Given the description of an element on the screen output the (x, y) to click on. 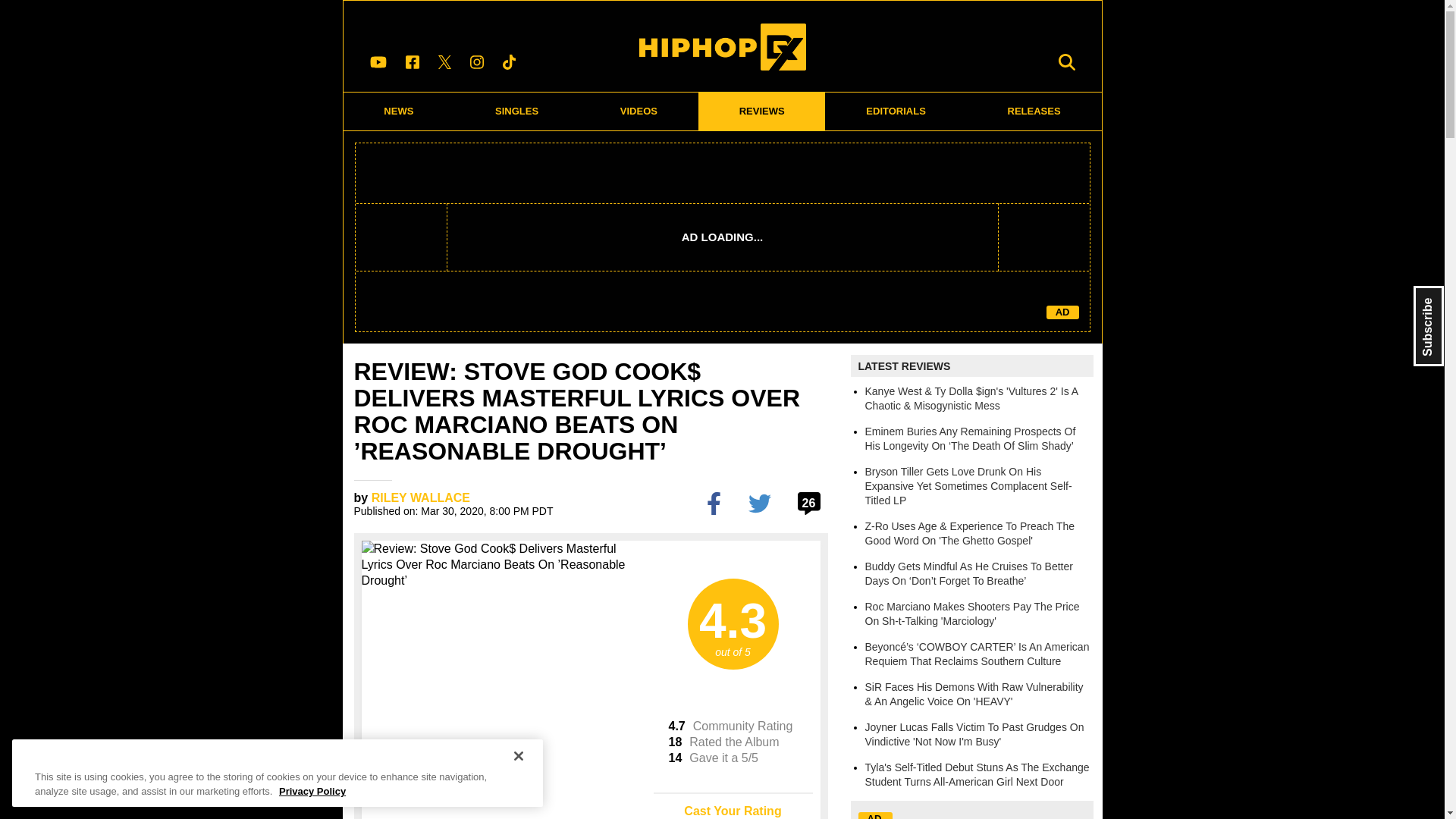
VIDEOS (638, 111)
NEWS (398, 111)
RELEASES (1034, 111)
EDITORIALS (895, 111)
26 (810, 502)
Cast Your Rating (732, 804)
REVIEWS (761, 111)
SINGLES (516, 111)
RILEY WALLACE (420, 497)
